Given the description of an element on the screen output the (x, y) to click on. 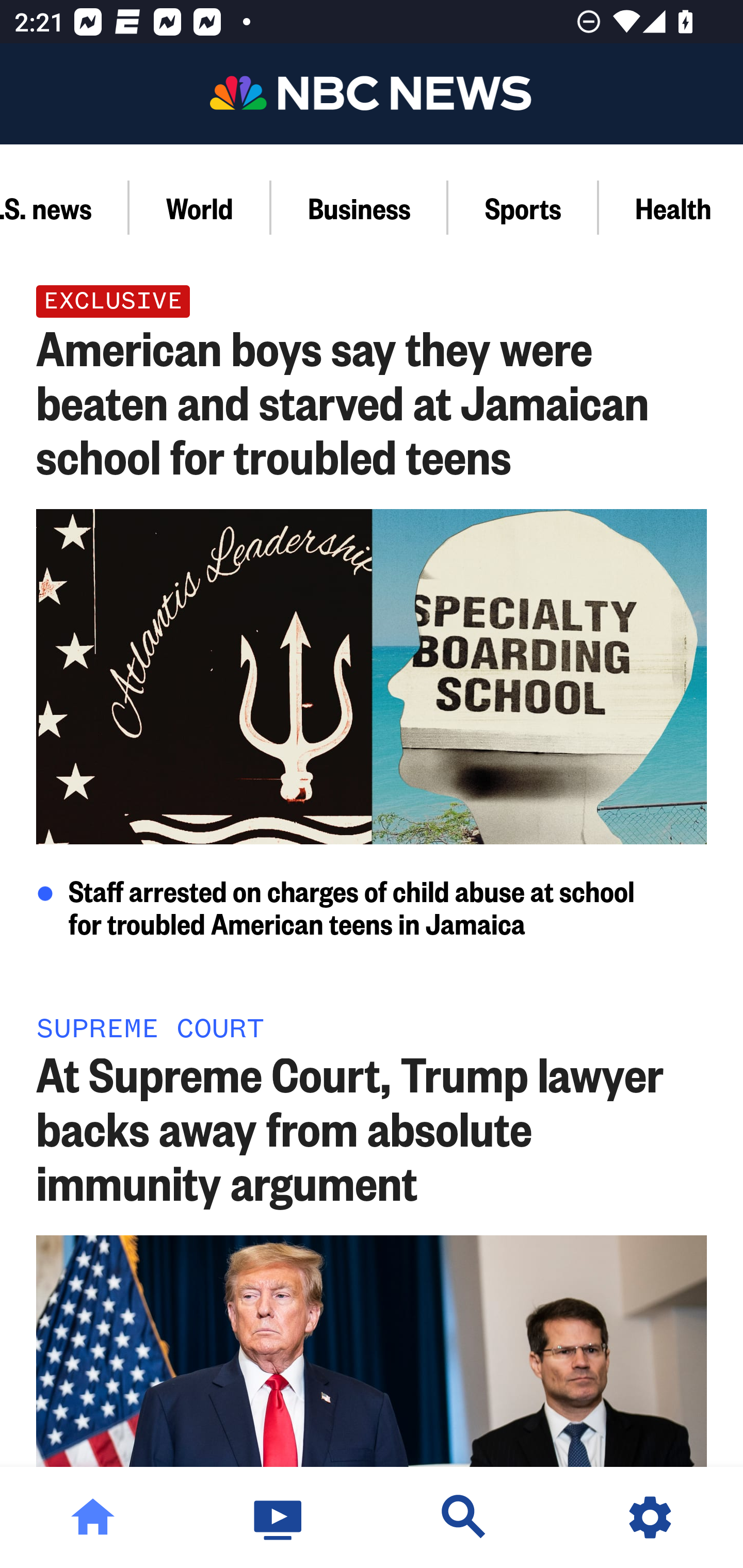
World Section,World (200, 207)
Business Section,Business (359, 207)
Sports Section,Sports (523, 207)
Health Section,Health (670, 207)
Watch (278, 1517)
Discover (464, 1517)
Settings (650, 1517)
